Given the description of an element on the screen output the (x, y) to click on. 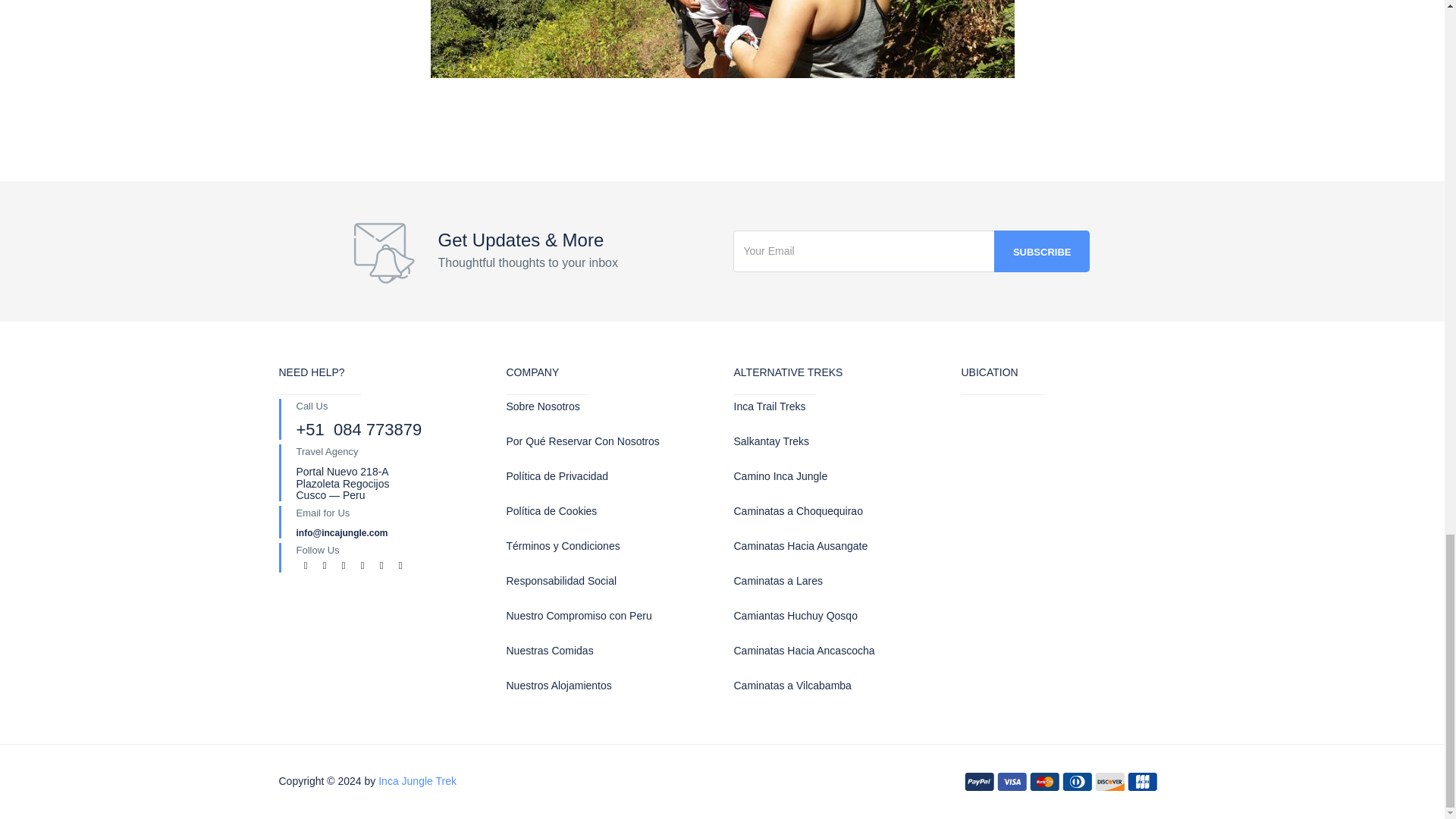
Subscribe (1042, 250)
inca jungle trail coca (722, 38)
